Given the description of an element on the screen output the (x, y) to click on. 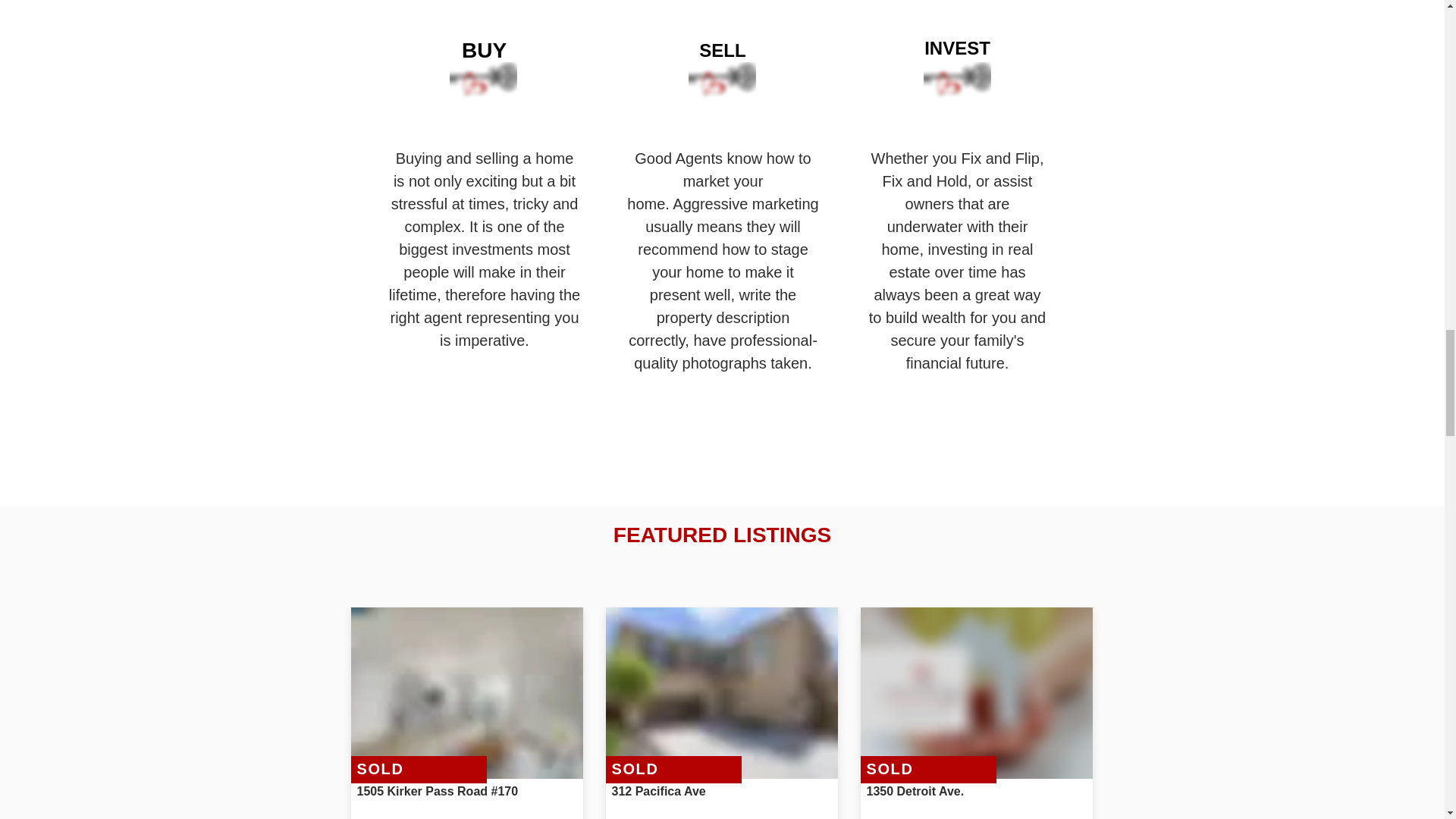
312 Pacifica, Brentwood, Ca.jpg (721, 692)
Another home sold!.png (976, 692)
c8318111c7549648f34a4ebc8414cc24l-m23709.jpg (466, 692)
